Given the description of an element on the screen output the (x, y) to click on. 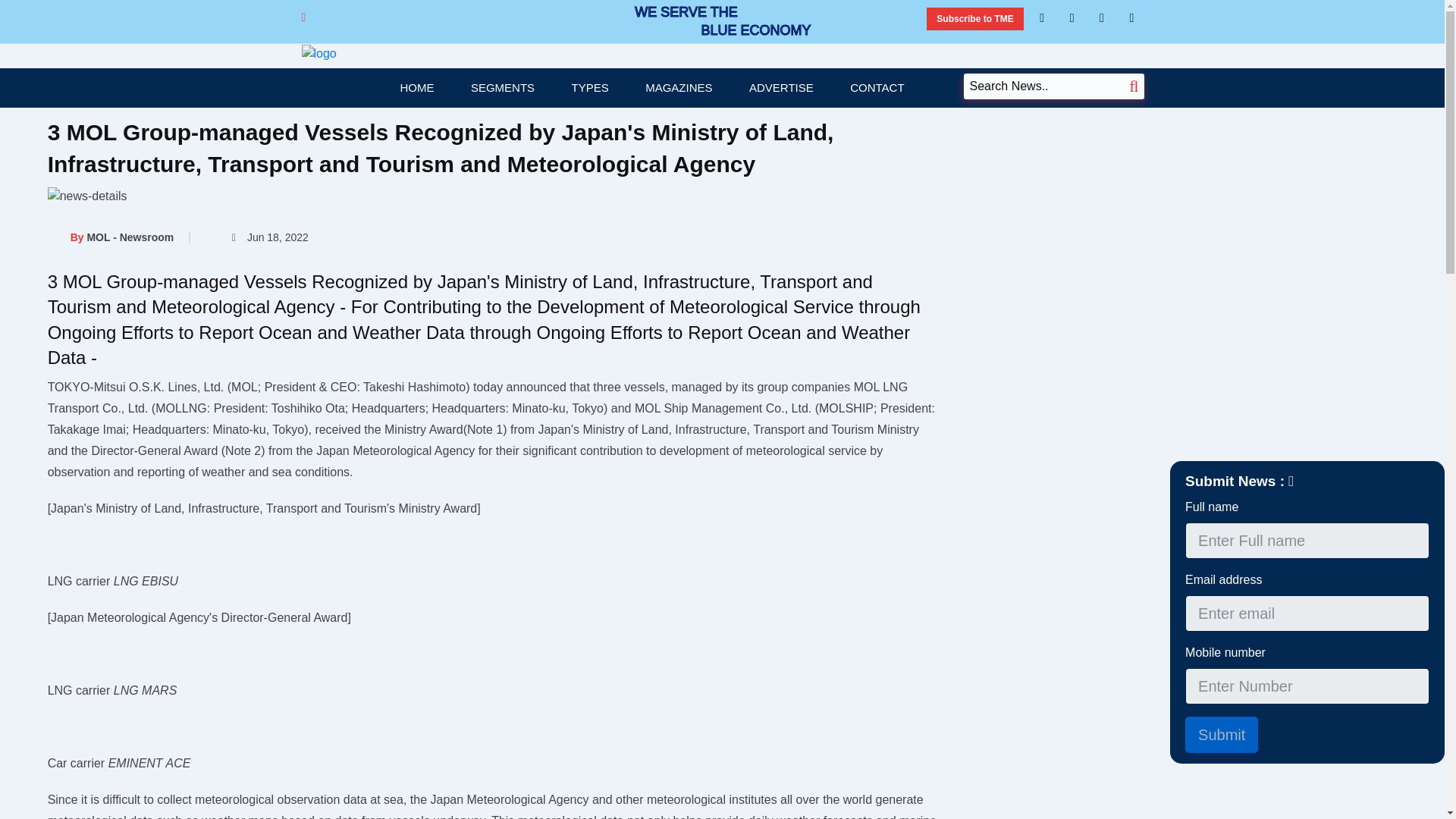
twitter (1101, 17)
Linkedin (1041, 17)
HOME (415, 87)
Subscribe to TME (974, 18)
facebook (1072, 17)
youtube (1130, 17)
SEGMENTS (502, 87)
